Given the description of an element on the screen output the (x, y) to click on. 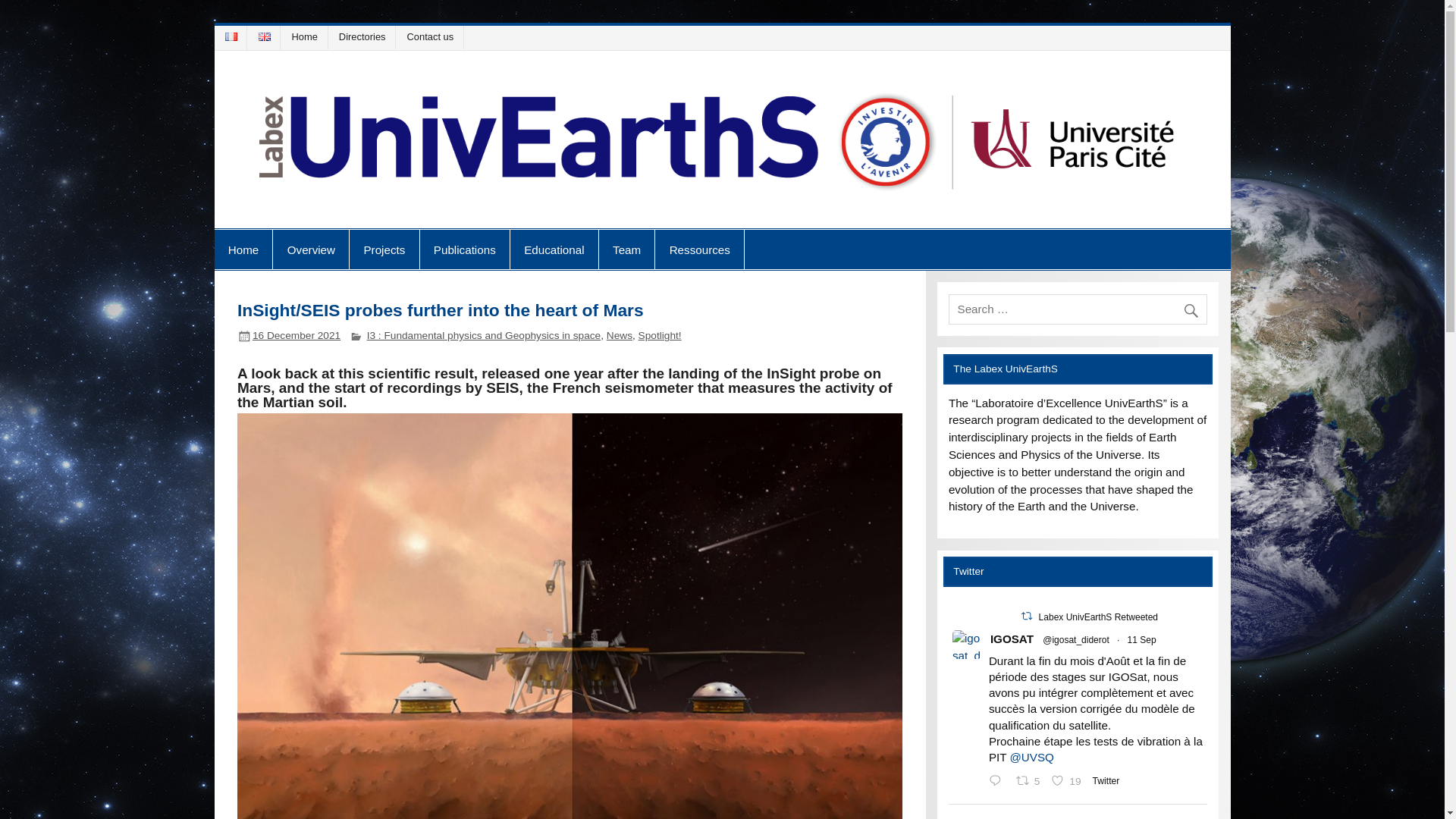
Home (243, 249)
Contact us (432, 37)
13 h 31 min (295, 335)
Home (306, 37)
Projects (384, 249)
Labex UnivEarthS (366, 214)
Overview (311, 249)
Directories (363, 37)
